Given the description of an element on the screen output the (x, y) to click on. 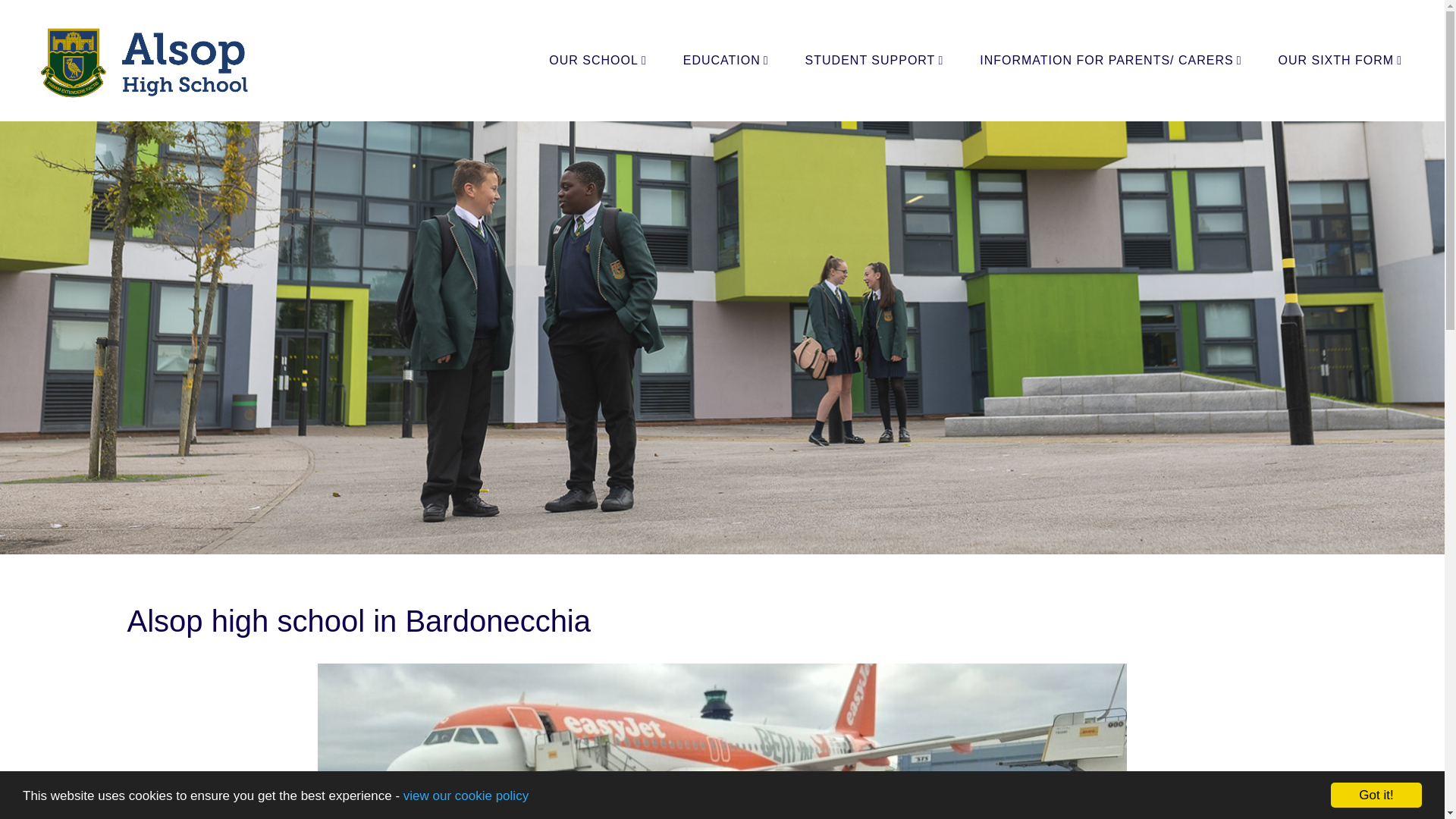
EDUCATION (726, 60)
OUR SCHOOL (597, 60)
